Given the description of an element on the screen output the (x, y) to click on. 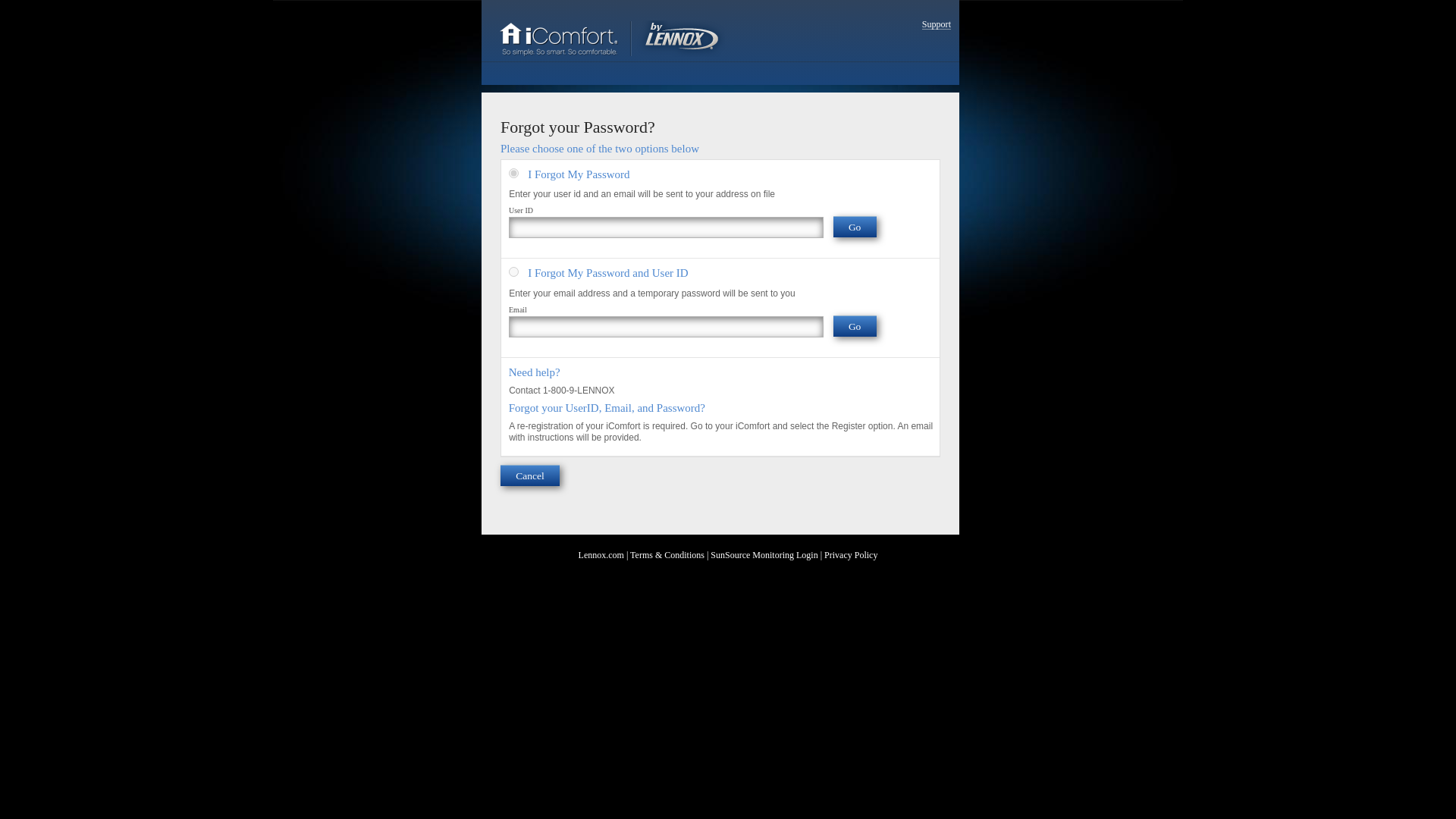
Go (854, 226)
forgotpassuserid (513, 271)
Go (854, 226)
Privacy Policy (850, 553)
Support (935, 24)
Lennox.com (601, 553)
Go (854, 325)
SunSource Monitoring Login (763, 553)
forgotpass (513, 173)
Go (854, 325)
Cancel (529, 475)
Cancel (529, 475)
